Given the description of an element on the screen output the (x, y) to click on. 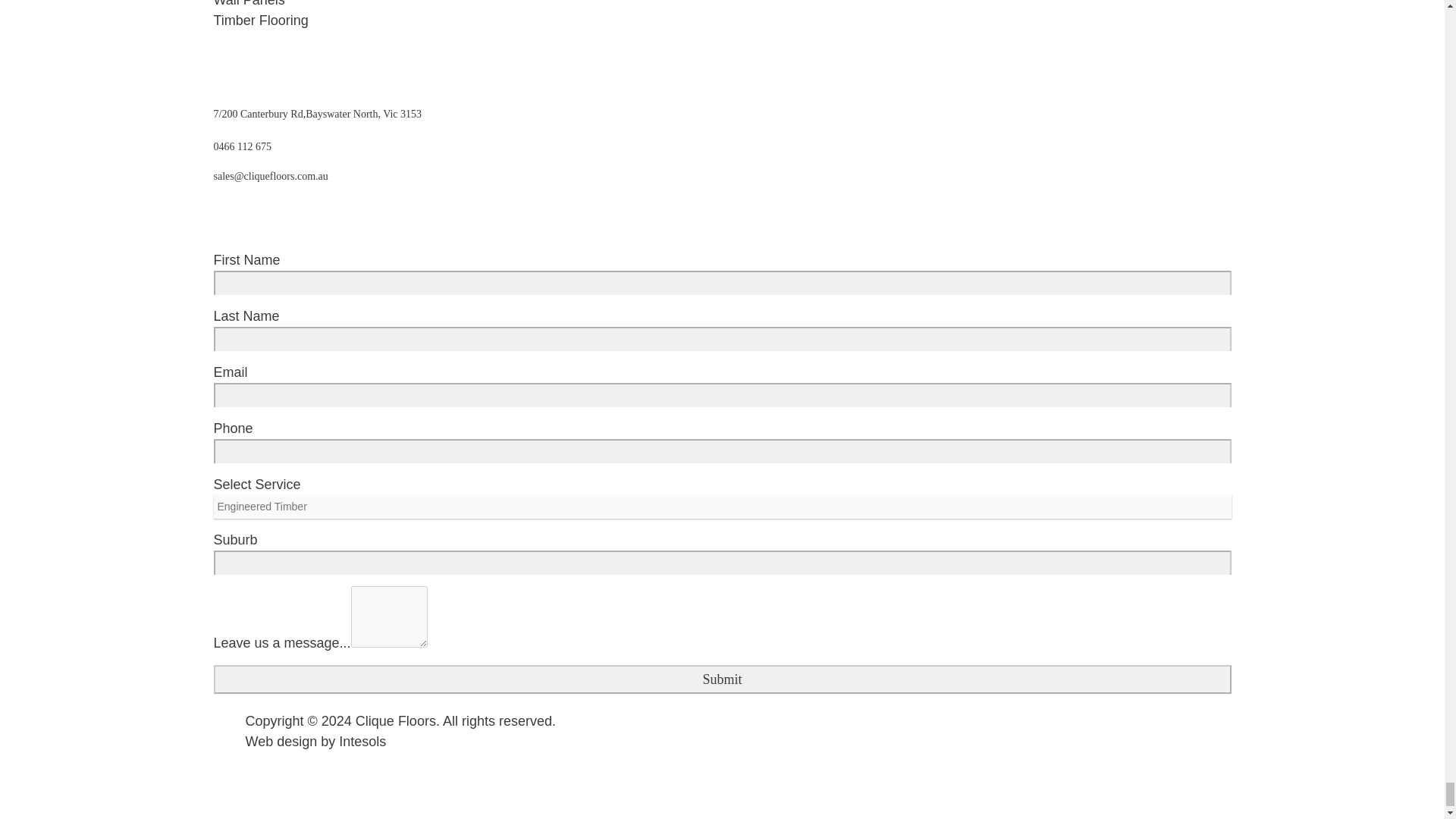
Submit (722, 679)
